Given the description of an element on the screen output the (x, y) to click on. 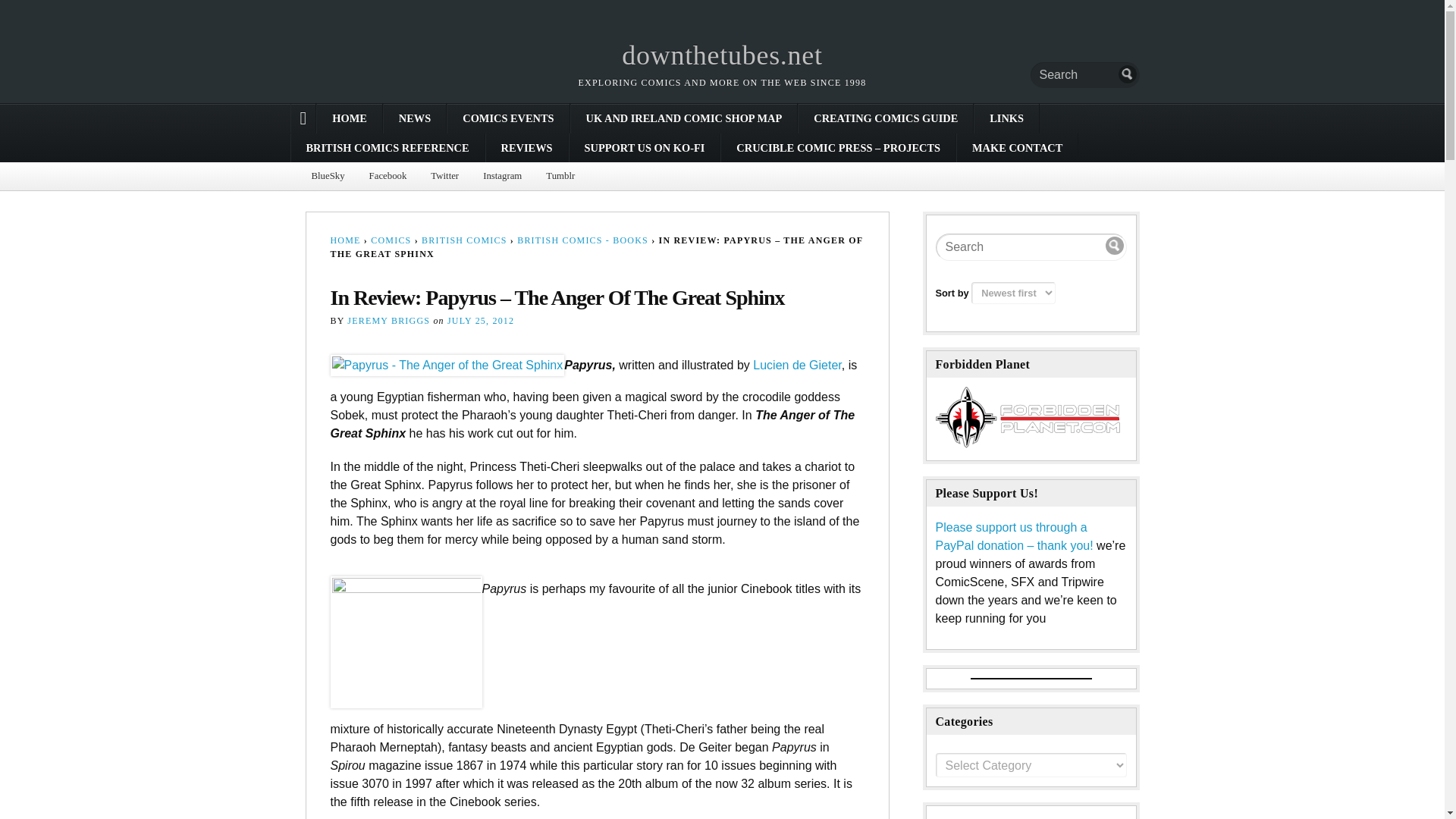
CREATING COMICS GUIDE (884, 118)
HOME (349, 118)
UK AND IRELAND COMIC SHOP MAP (683, 118)
7:00 am (479, 320)
Home (721, 55)
LINKS (1006, 118)
View all posts by Jeremy Briggs (388, 320)
COMICS EVENTS (507, 118)
downthetubes.net (721, 55)
NEWS (414, 118)
BRITISH COMICS REFERENCE (387, 147)
